Given the description of an element on the screen output the (x, y) to click on. 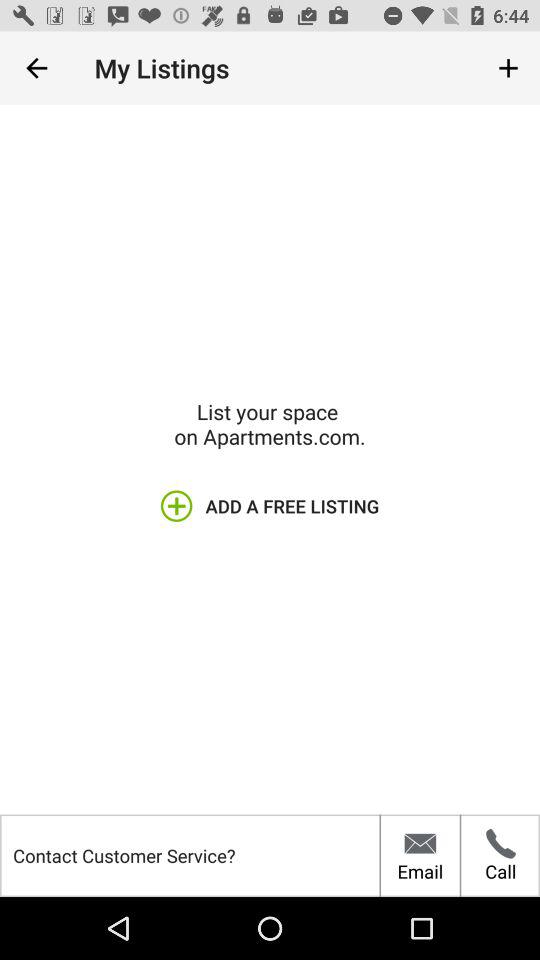
click icon above the contact customer service? (269, 505)
